Given the description of an element on the screen output the (x, y) to click on. 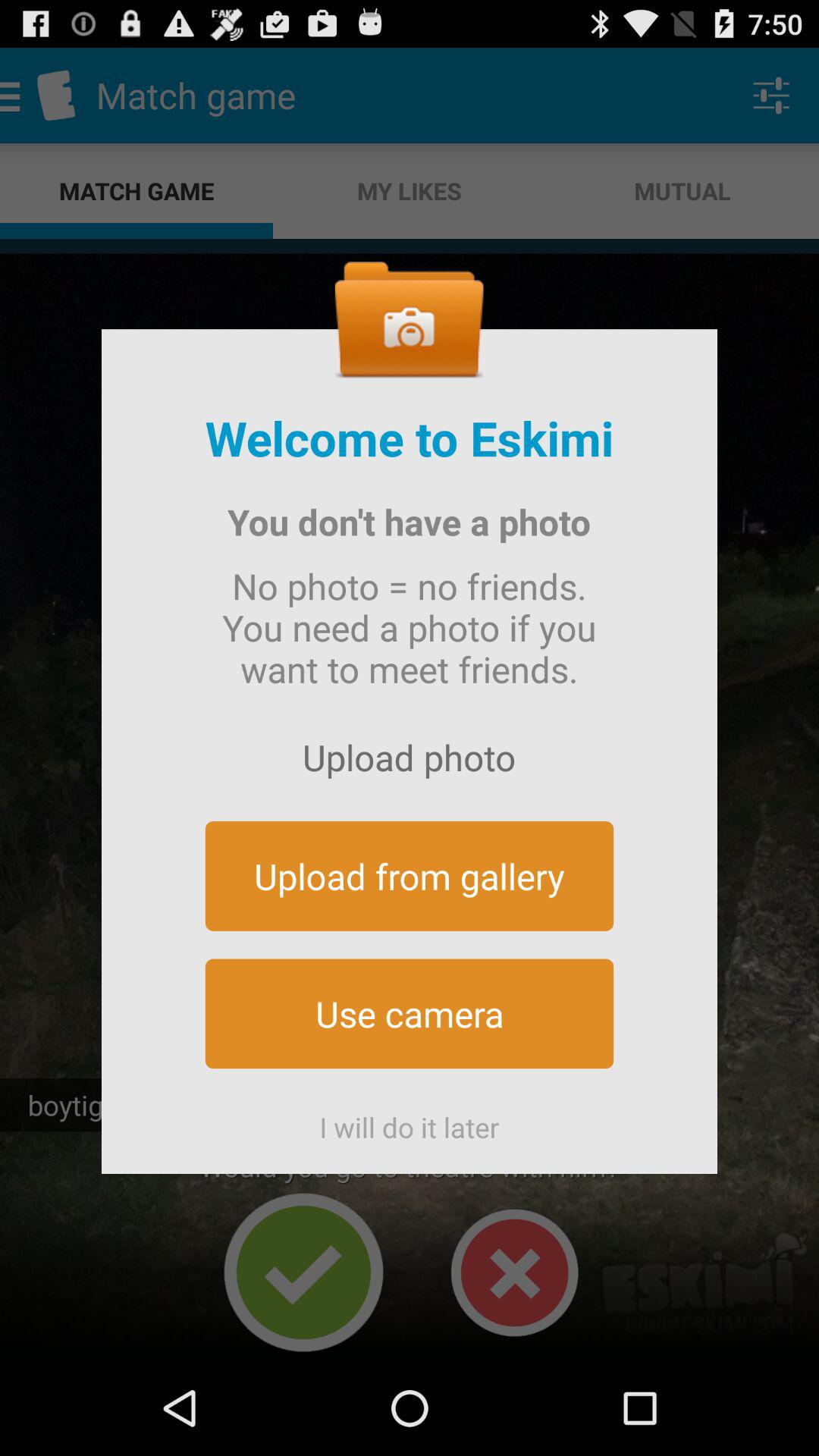
select the use camera icon (409, 1013)
